Given the description of an element on the screen output the (x, y) to click on. 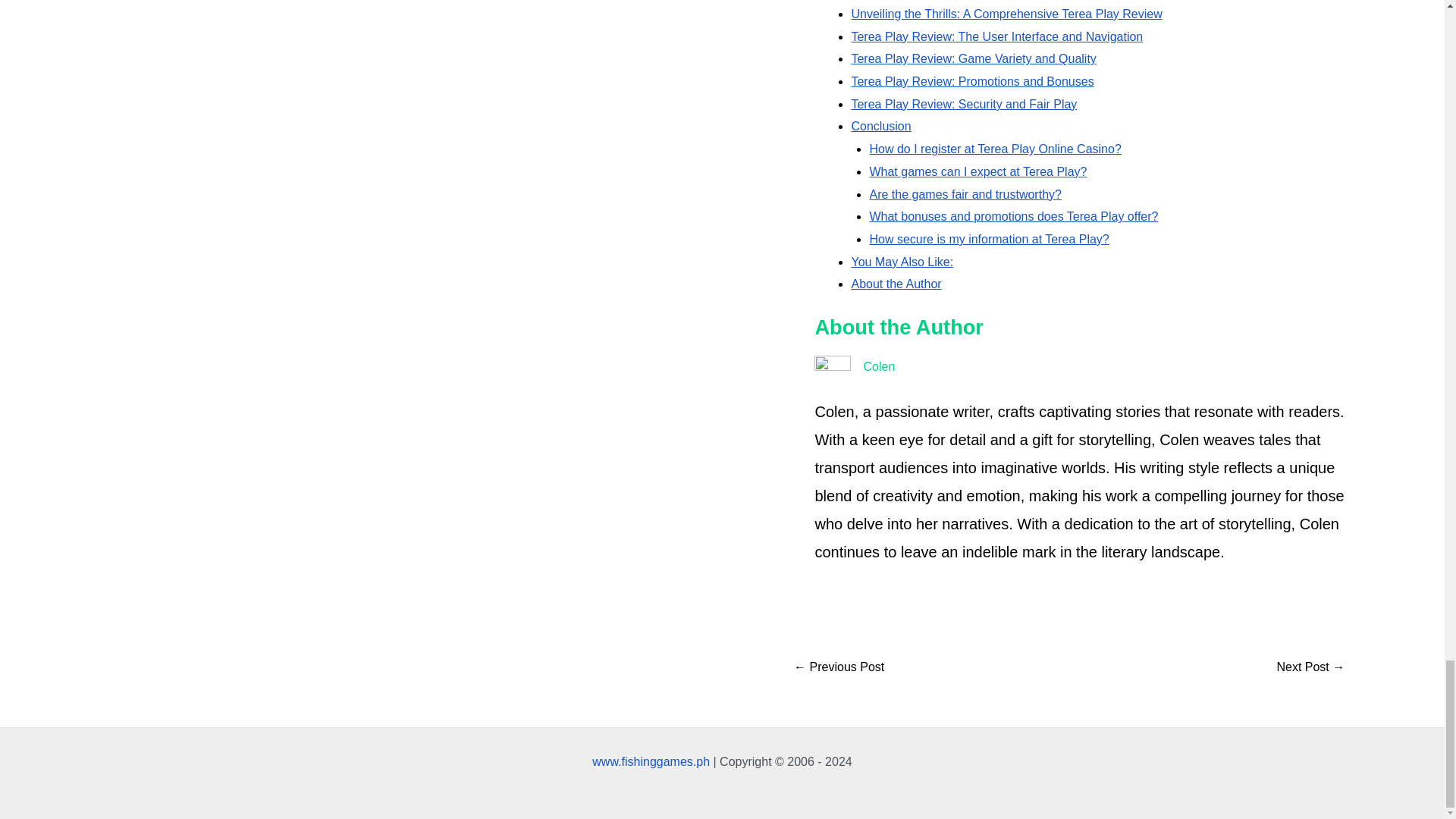
Step into Excitement: PHLBoss Online Casino Login Guide (839, 666)
